Given the description of an element on the screen output the (x, y) to click on. 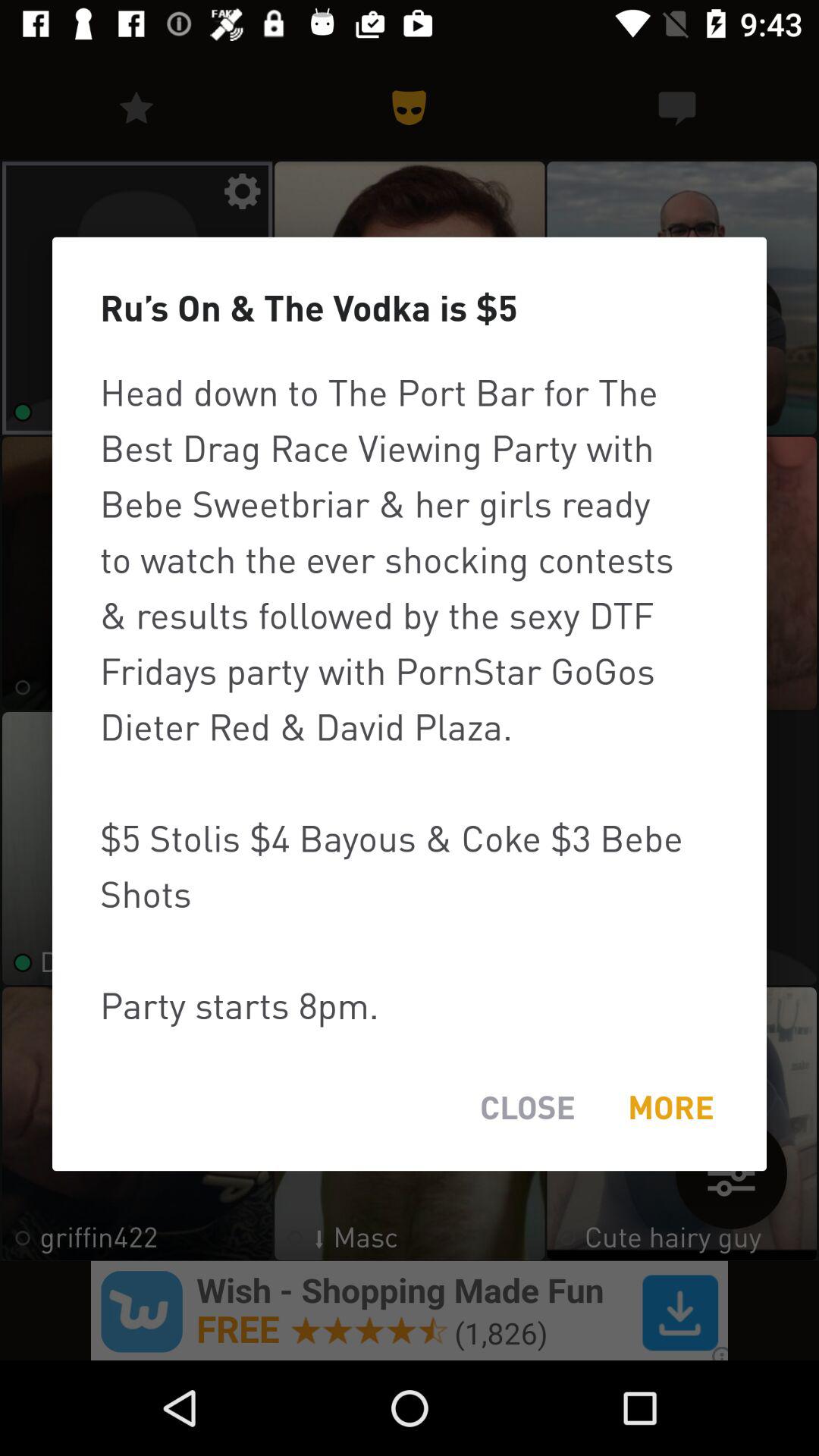
click head down to item (409, 698)
